Given the description of an element on the screen output the (x, y) to click on. 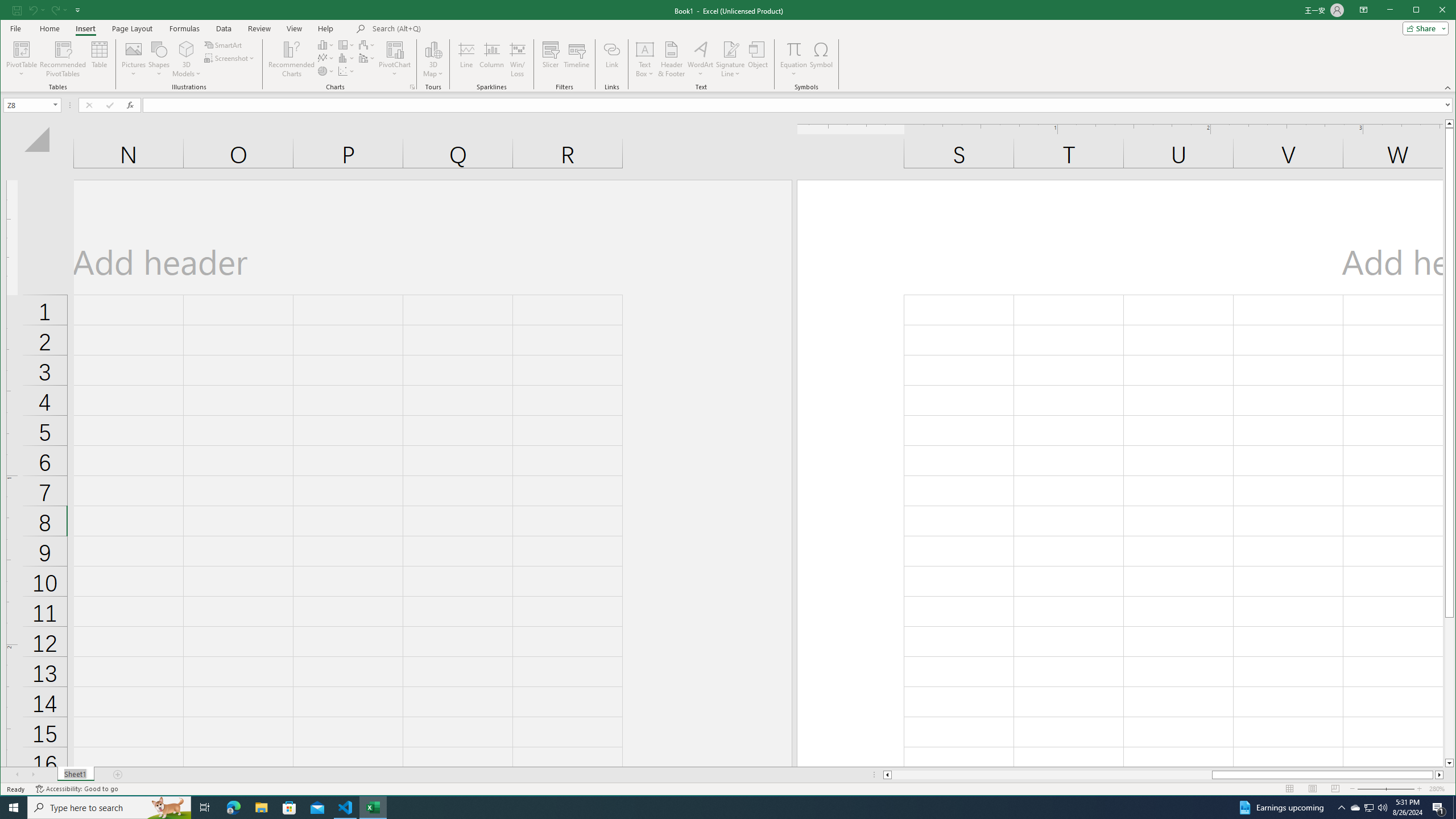
Insert Line or Area Chart (325, 57)
Text Box (644, 59)
